Given the description of an element on the screen output the (x, y) to click on. 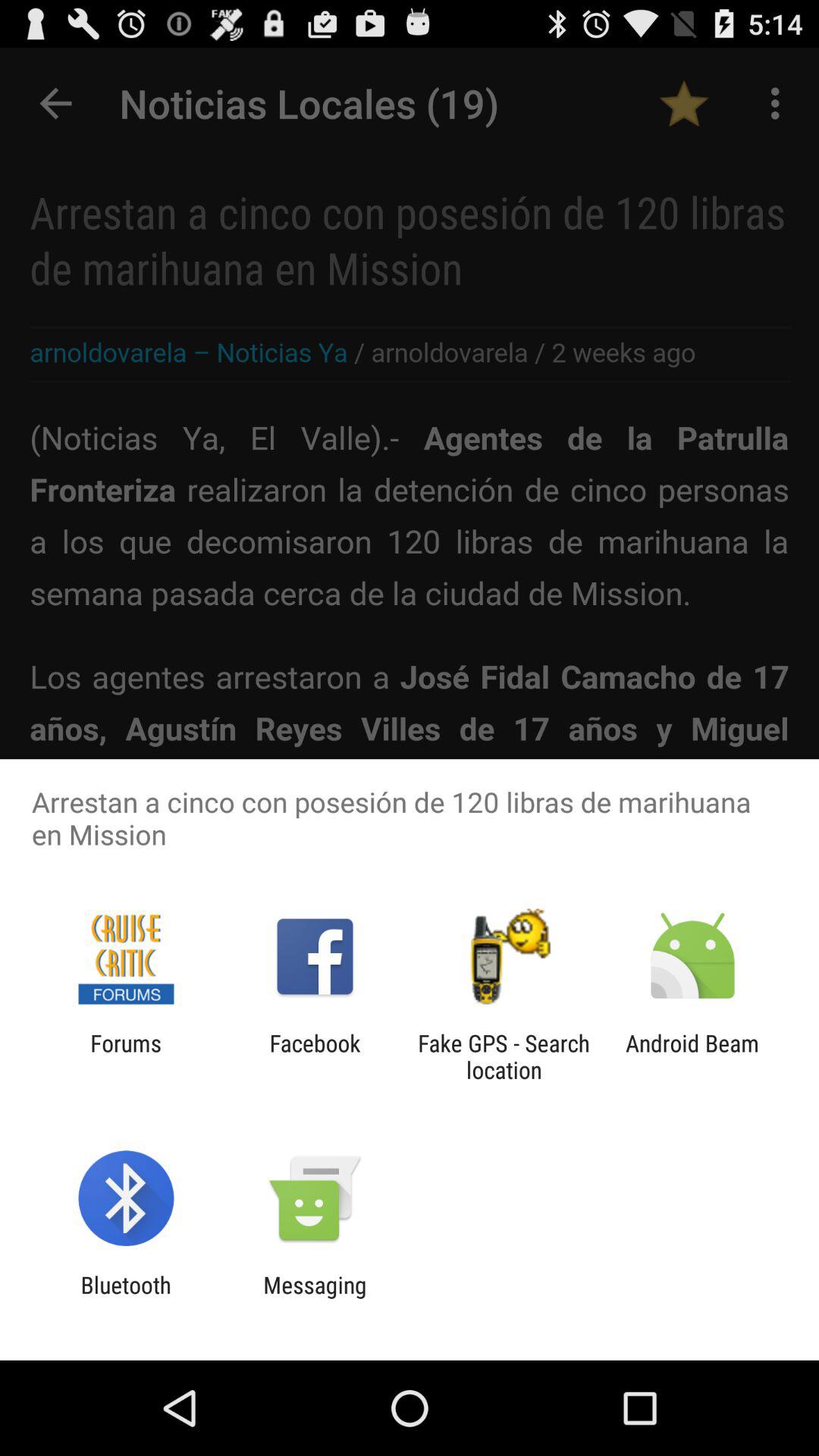
click messaging app (314, 1298)
